Given the description of an element on the screen output the (x, y) to click on. 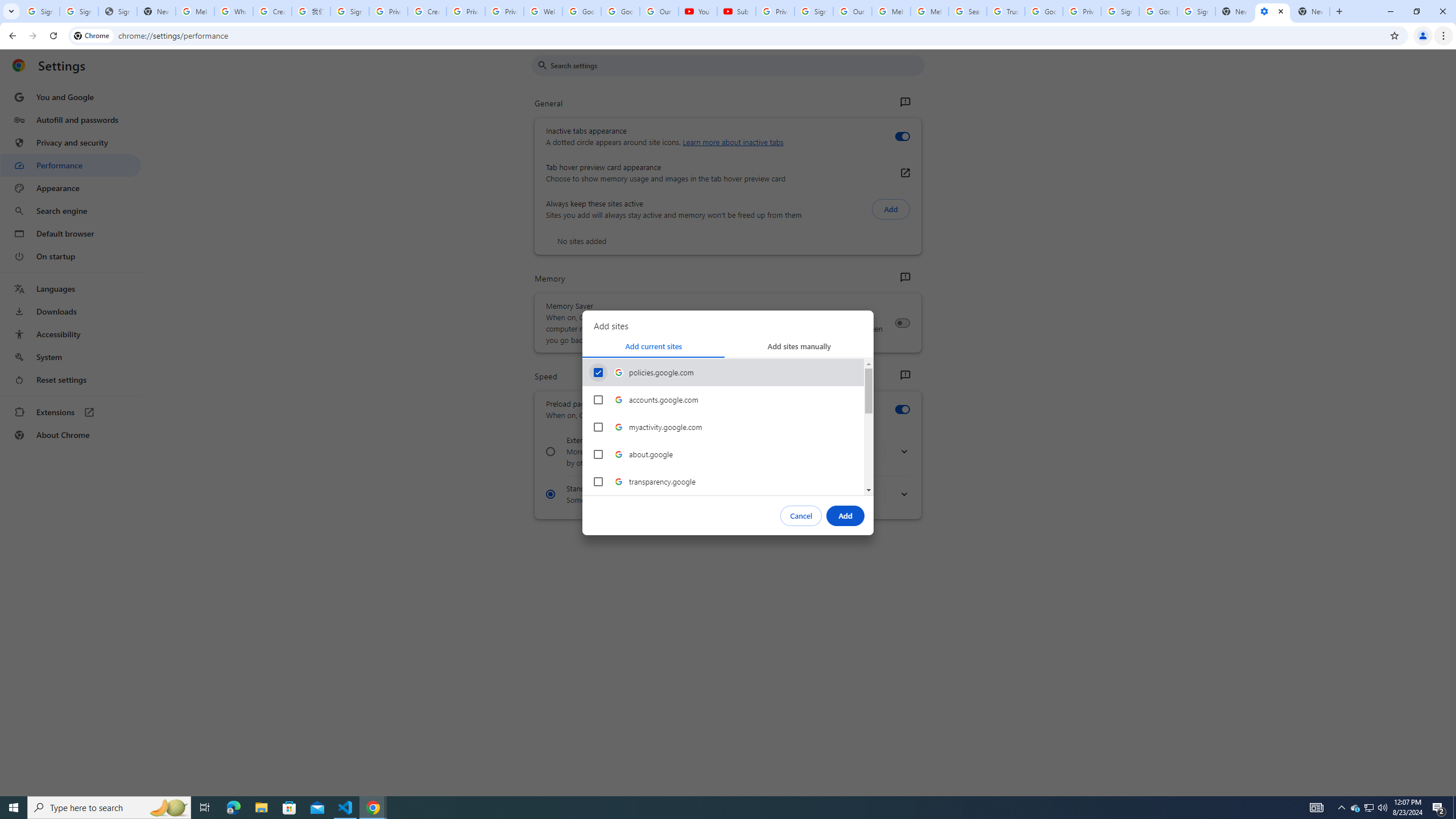
Sign in - Google Accounts (1120, 11)
Cancel (801, 515)
Settings - Performance (1272, 11)
Google Cybersecurity Innovations - Google Safety Center (1158, 11)
Google Ads - Sign in (1043, 11)
